Given the description of an element on the screen output the (x, y) to click on. 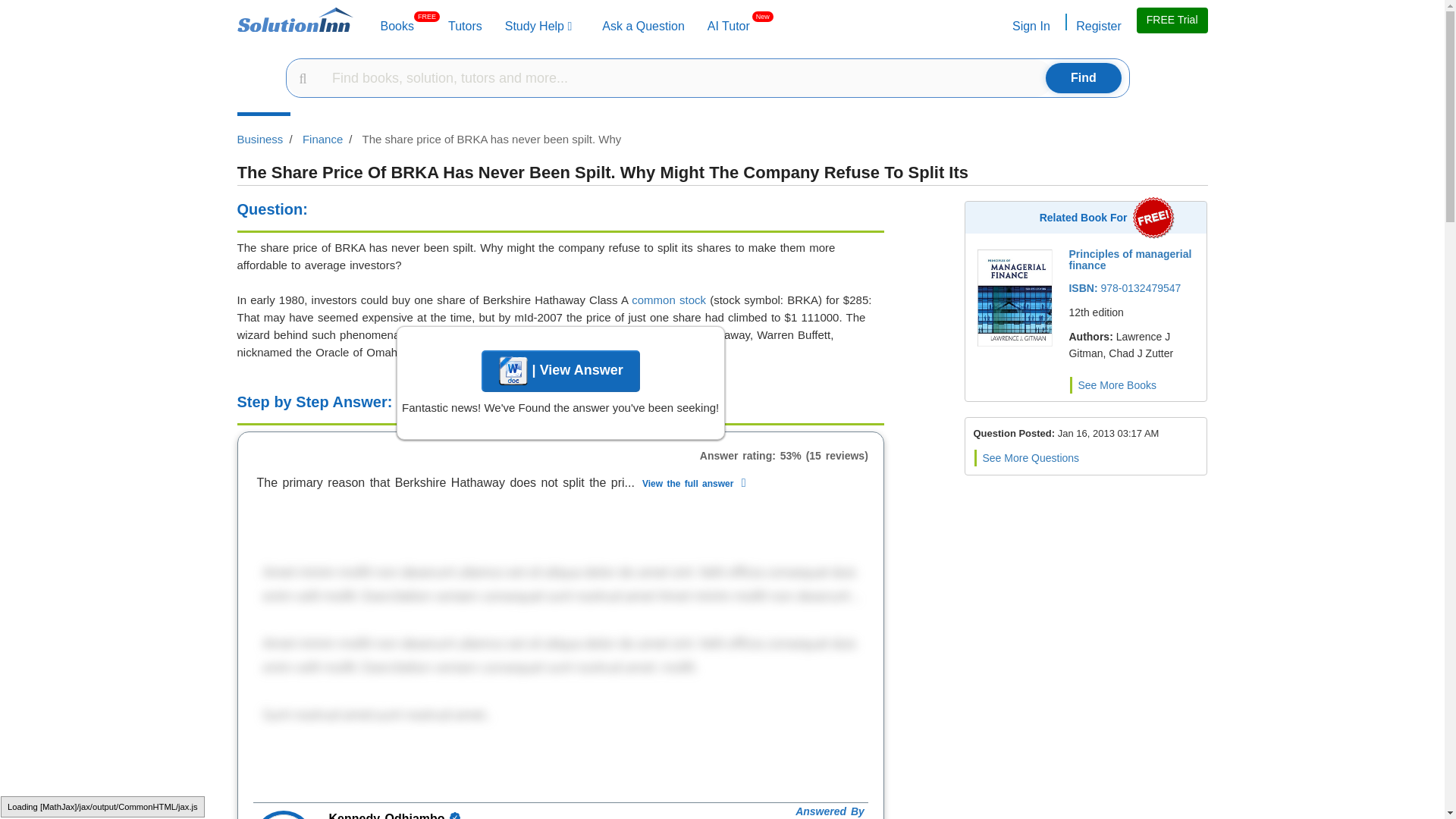
Ask a Question (643, 26)
Study Help (728, 26)
Sign In (538, 26)
Study Help (1029, 26)
Register (538, 26)
Ask a Question (397, 26)
Posted Date (728, 26)
Tutors (1097, 26)
Sign In (643, 26)
Tutors (1108, 432)
